Given the description of an element on the screen output the (x, y) to click on. 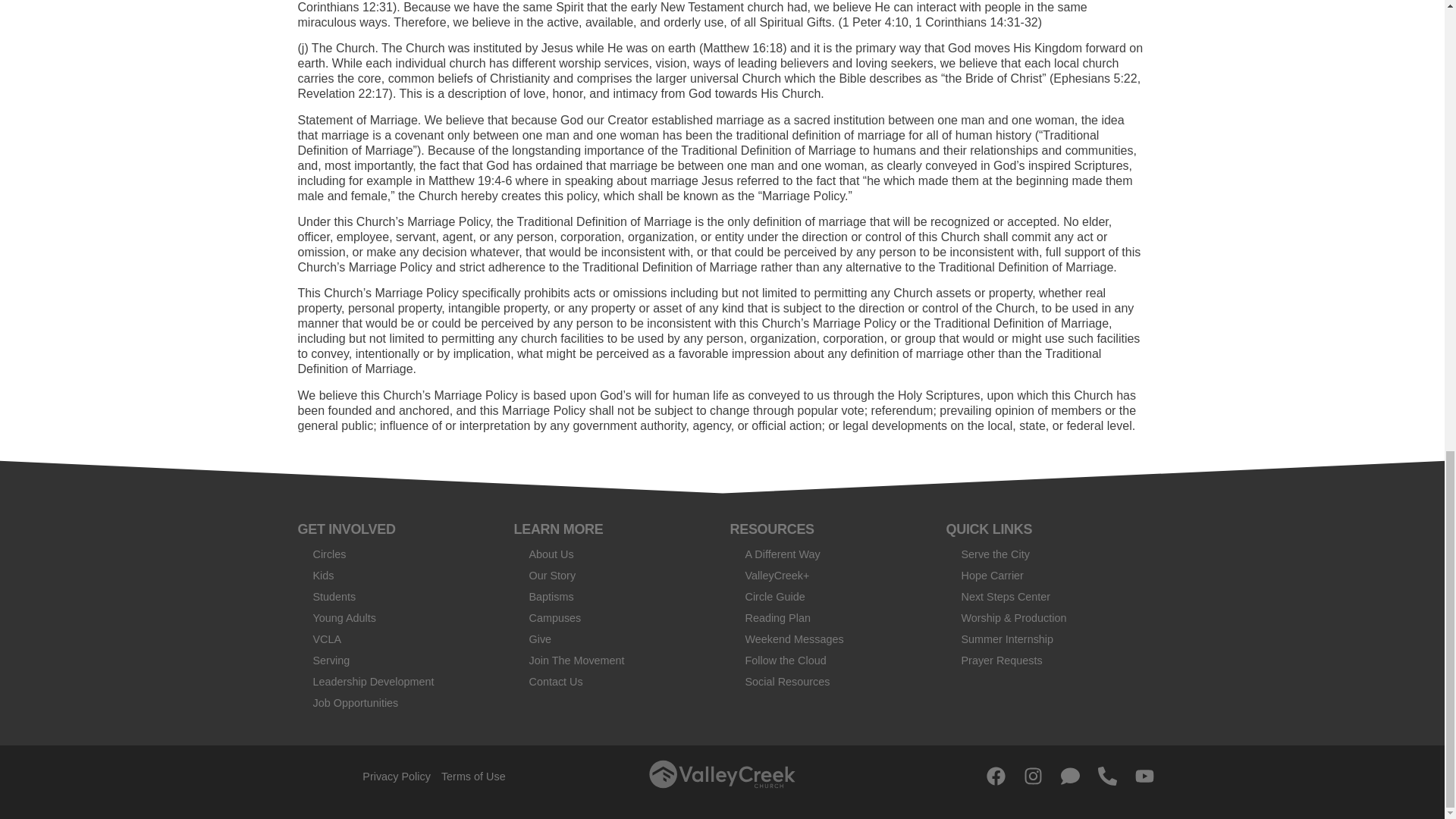
Job Opportunities (397, 702)
Circles (397, 554)
Campuses (613, 617)
Kids (397, 575)
Join The Movement (613, 660)
Contact Us (613, 681)
Give (613, 639)
VCLA (397, 639)
Serving (397, 660)
Young Adults (397, 617)
About Us (613, 554)
Our Story (613, 575)
Baptisms (613, 596)
Leadership Development (397, 681)
Students (397, 596)
